Given the description of an element on the screen output the (x, y) to click on. 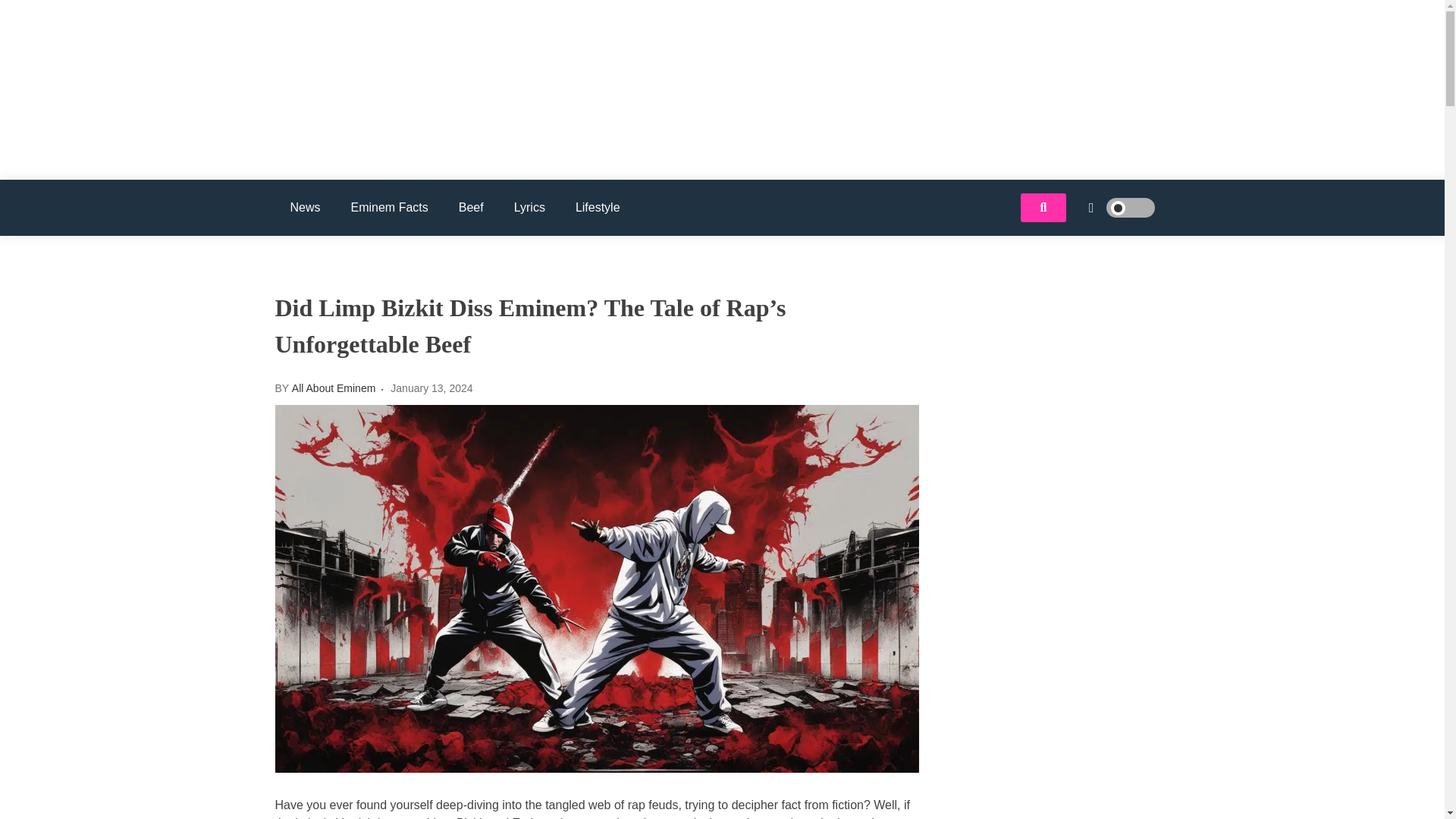
January 13, 2024 (430, 387)
All About Eminem (333, 387)
News (304, 207)
Beef (471, 207)
Eminem Facts (390, 207)
Lifestyle (597, 207)
All About Eminem (366, 133)
Lyrics (529, 207)
